Given the description of an element on the screen output the (x, y) to click on. 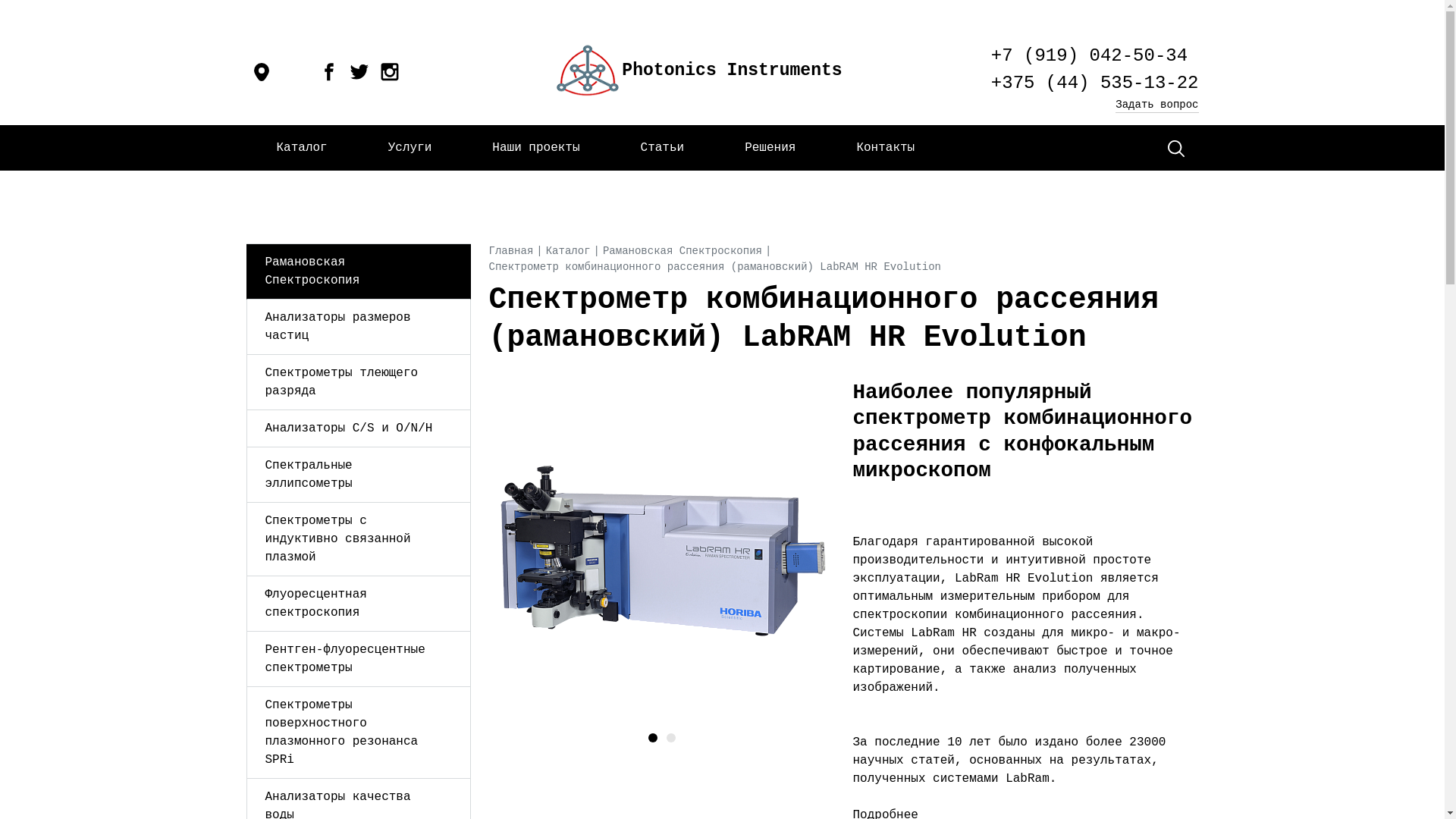
Photonics Instruments Element type: text (697, 71)
+375 (44) 535-13-22 Element type: text (1094, 83)
logo6.png Element type: hover (587, 71)
+7 (919) 042-50-34 Element type: text (1094, 55)
